Given the description of an element on the screen output the (x, y) to click on. 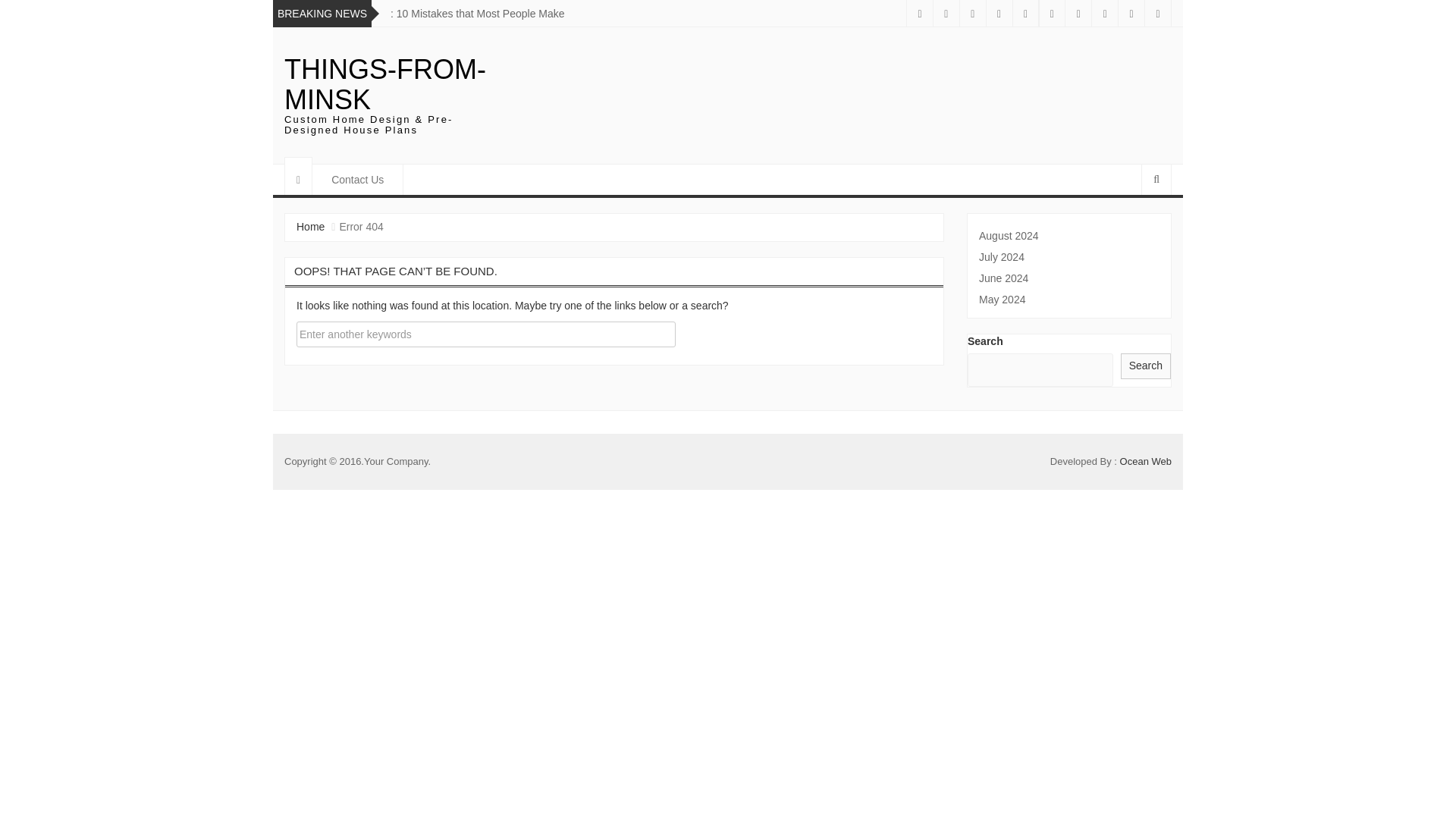
THINGS-FROM-MINSK (384, 84)
Home (310, 226)
Search for: (486, 334)
Ocean Web (1145, 460)
June 2024 (1068, 278)
August 2024 (1068, 235)
July 2024 (1068, 256)
Search (1145, 365)
May 2024 (1068, 299)
Contact Us (358, 179)
: 10 Mistakes that Most People Make (477, 13)
